Given the description of an element on the screen output the (x, y) to click on. 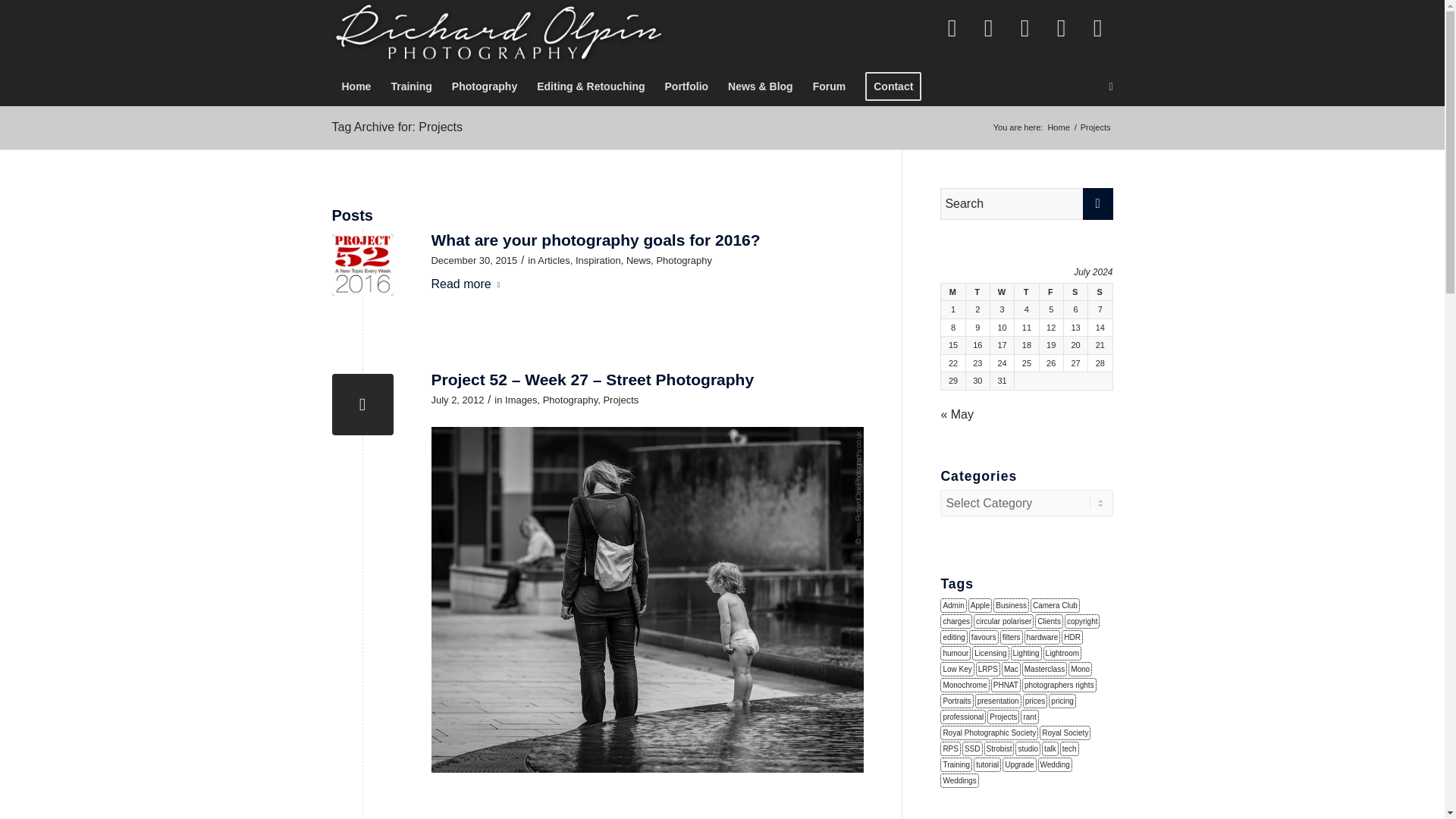
Facebook (952, 27)
500px (1098, 27)
Richard Olpin Photography Website Logo (498, 33)
Flickr (1061, 27)
Training (410, 86)
Tag Archive for: Projects (397, 126)
Contact (893, 86)
Instagram (1025, 27)
What are your photography goals for 2016? (595, 239)
Inspiration (598, 260)
Home (1058, 127)
Twitter (989, 27)
Forum (829, 86)
Richard Olpin Photography (1058, 127)
Articles (553, 260)
